Given the description of an element on the screen output the (x, y) to click on. 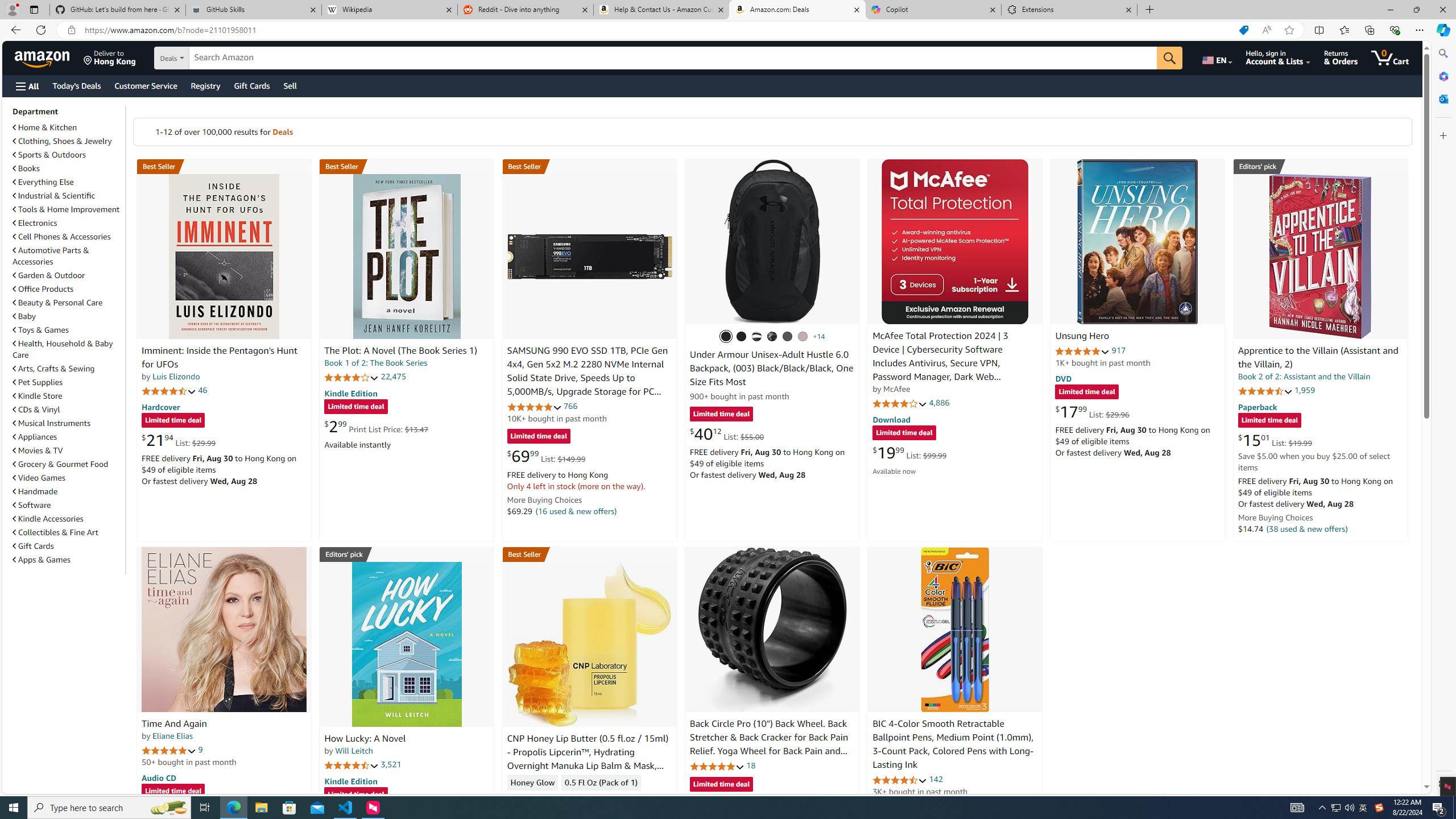
Kindle Store (67, 395)
Registry (205, 85)
Reddit - Dive into anything (525, 9)
CDs & Vinyl (36, 409)
4.1 out of 5 stars (899, 403)
Editors' pick Best Mystery, Thriller & Suspense (406, 553)
Paperback (1256, 406)
Apps & Games (67, 559)
Pet Supplies (37, 381)
917 (1117, 350)
The Plot: A Novel (The Book Series 1) (400, 351)
Clothing, Shoes & Jewelry (62, 140)
4.9 out of 5 stars (1082, 351)
(004) Black / Black / Metallic Gold (772, 336)
